Given the description of an element on the screen output the (x, y) to click on. 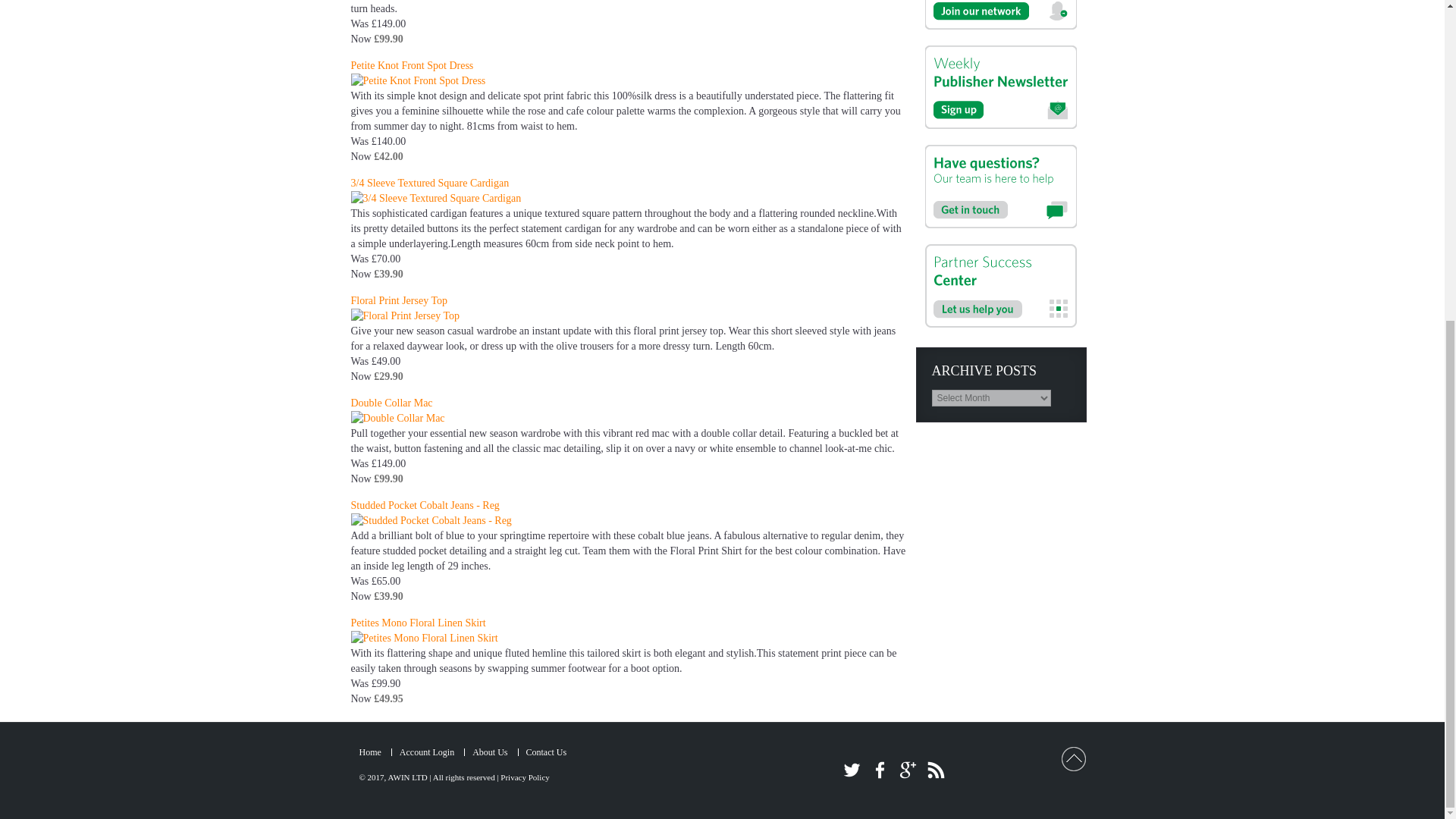
Studded Pocket Cobalt Jeans - Reg (424, 505)
Floral Print Jersey Top (398, 300)
Petite Knot Front Spot Dress (411, 65)
Double Collar Mac (391, 402)
Petites Mono Floral Linen Skirt (417, 622)
